Given the description of an element on the screen output the (x, y) to click on. 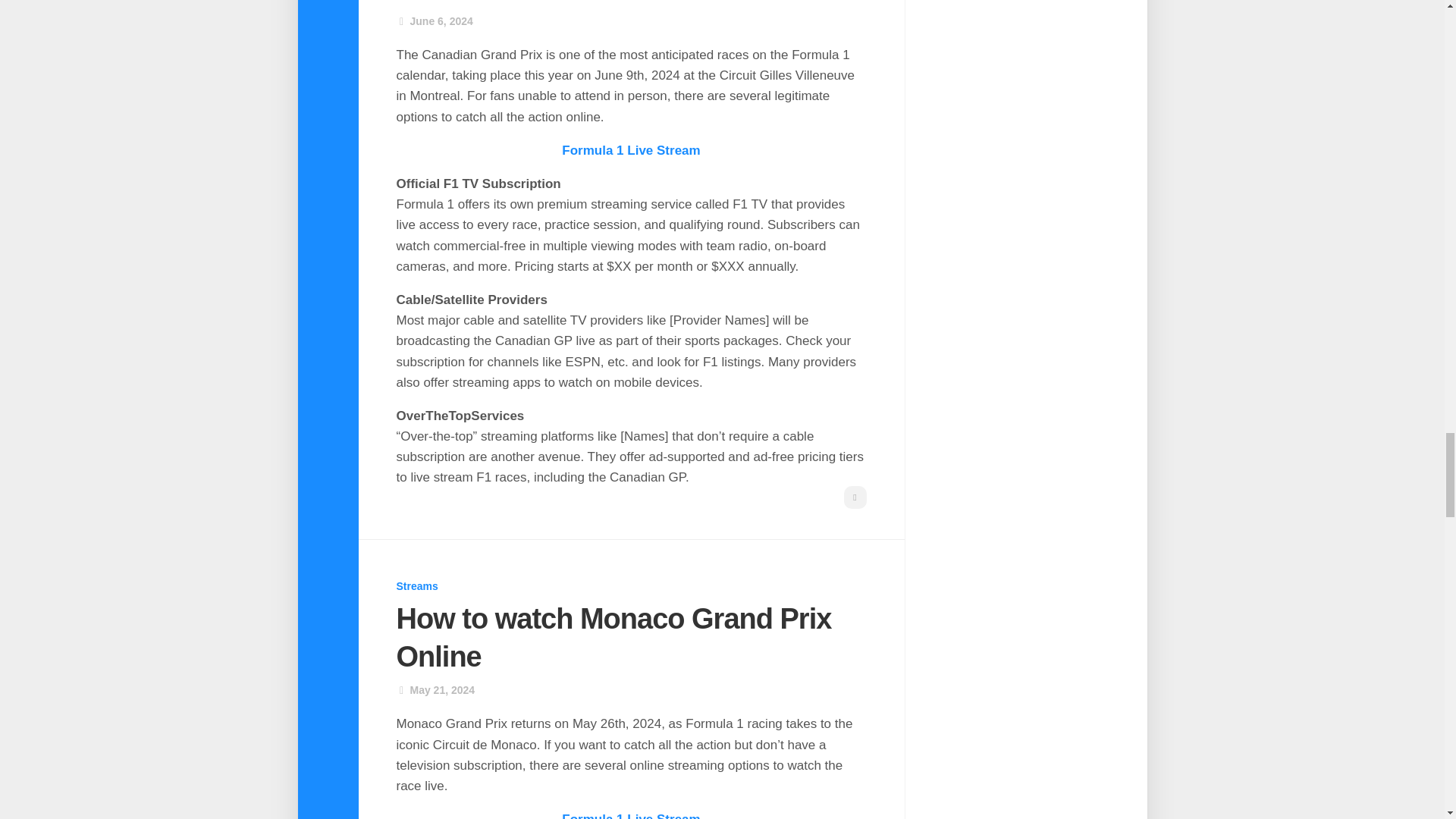
Formula 1 Live Stream (631, 150)
How to watch Monaco Grand Prix Online (613, 636)
Formula 1 Live Stream (631, 815)
Streams (417, 585)
